Given the description of an element on the screen output the (x, y) to click on. 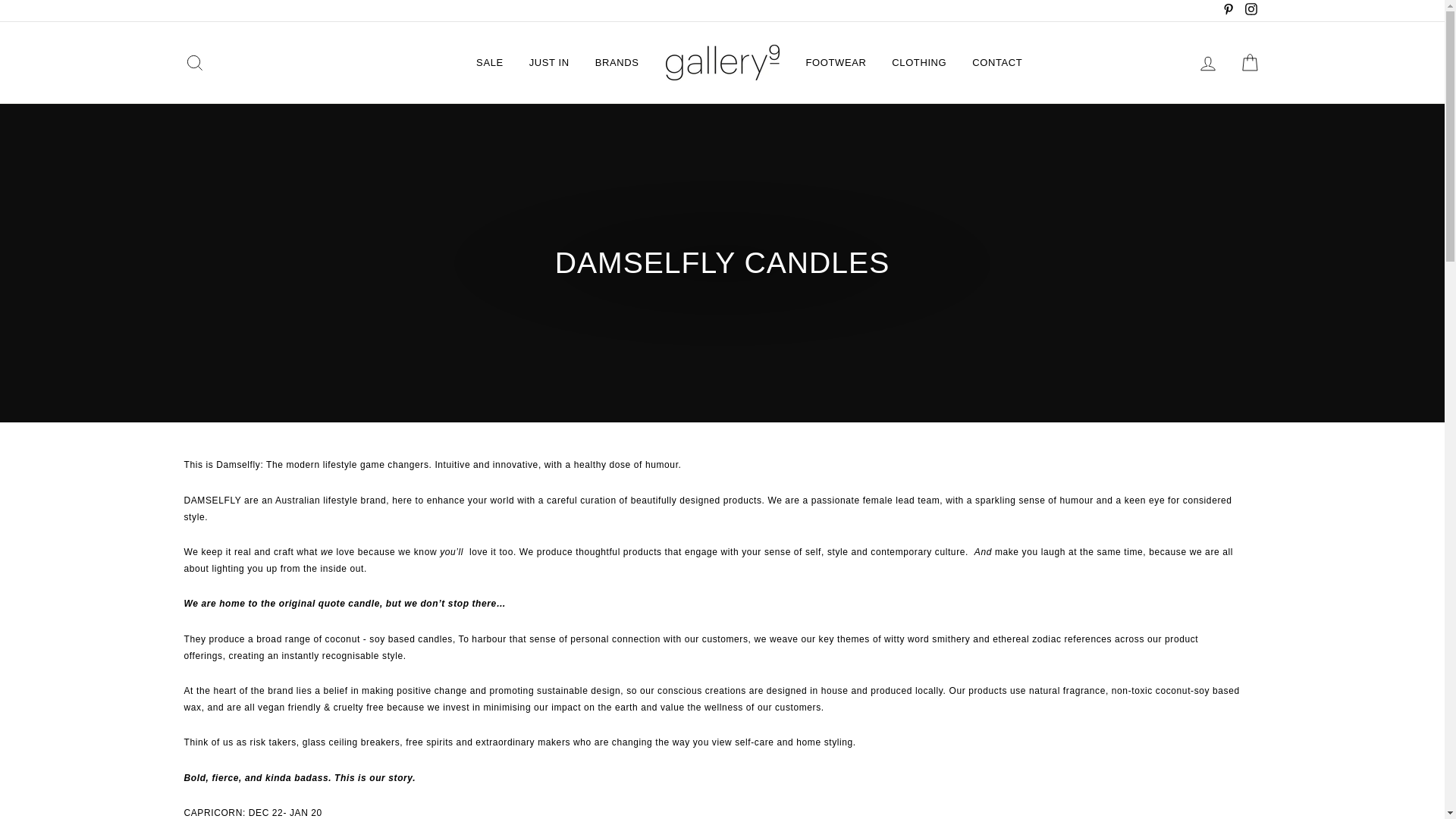
Pinterest (1228, 10)
CLOTHING (919, 62)
Gallery 9  on Instagram (1250, 10)
FOOTWEAR (835, 62)
Instagram (1250, 10)
CONTACT (996, 62)
JUST IN (549, 62)
BRANDS (616, 62)
SALE (489, 62)
Cart (1249, 61)
Gallery 9  on Pinterest (1228, 10)
